Given the description of an element on the screen output the (x, y) to click on. 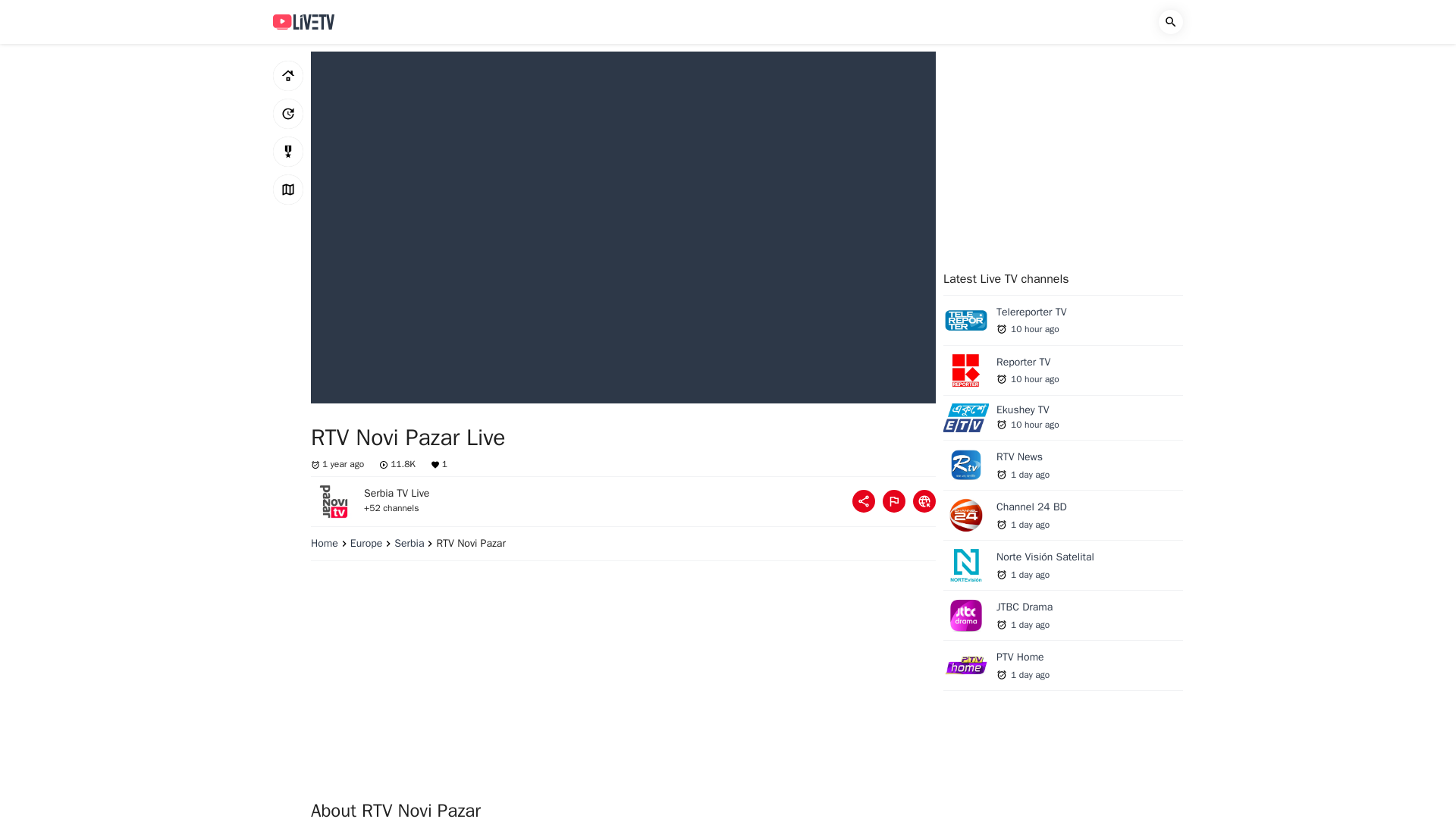
Live TV channels: Live and Replay TV (1062, 373)
Europe (303, 21)
Home (372, 543)
Report Broken (287, 75)
Top Live TV channels (893, 500)
Resource Links (1062, 324)
Serbia (287, 151)
RTV Novi Pazar Live (1062, 468)
Home (1062, 518)
Latest Live TV channels (924, 500)
RTV Novi Pazar Live stream (414, 543)
